Given the description of an element on the screen output the (x, y) to click on. 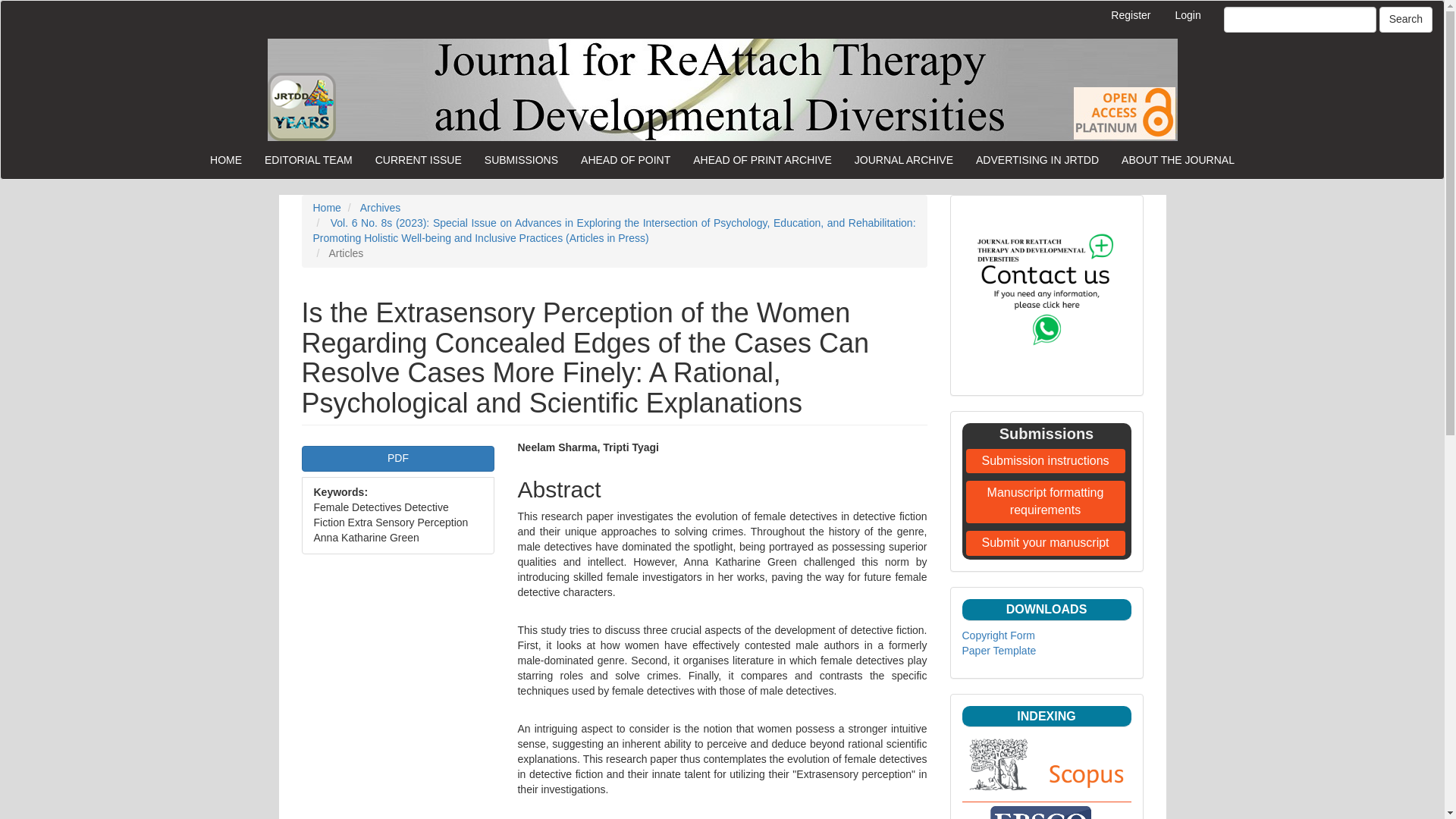
AHEAD OF POINT (625, 159)
Submit your manuscript (1045, 543)
ABOUT THE JOURNAL (1177, 159)
JOURNAL ARCHIVE (903, 159)
HOME (225, 159)
AHEAD OF PRINT ARCHIVE (762, 159)
PDF (398, 458)
SUBMISSIONS (521, 159)
Archives (380, 207)
Login (1187, 15)
CURRENT ISSUE (418, 159)
EDITORIAL TEAM (308, 159)
Search (1405, 19)
ADVERTISING IN JRTDD (1036, 159)
Register (1130, 15)
